Given the description of an element on the screen output the (x, y) to click on. 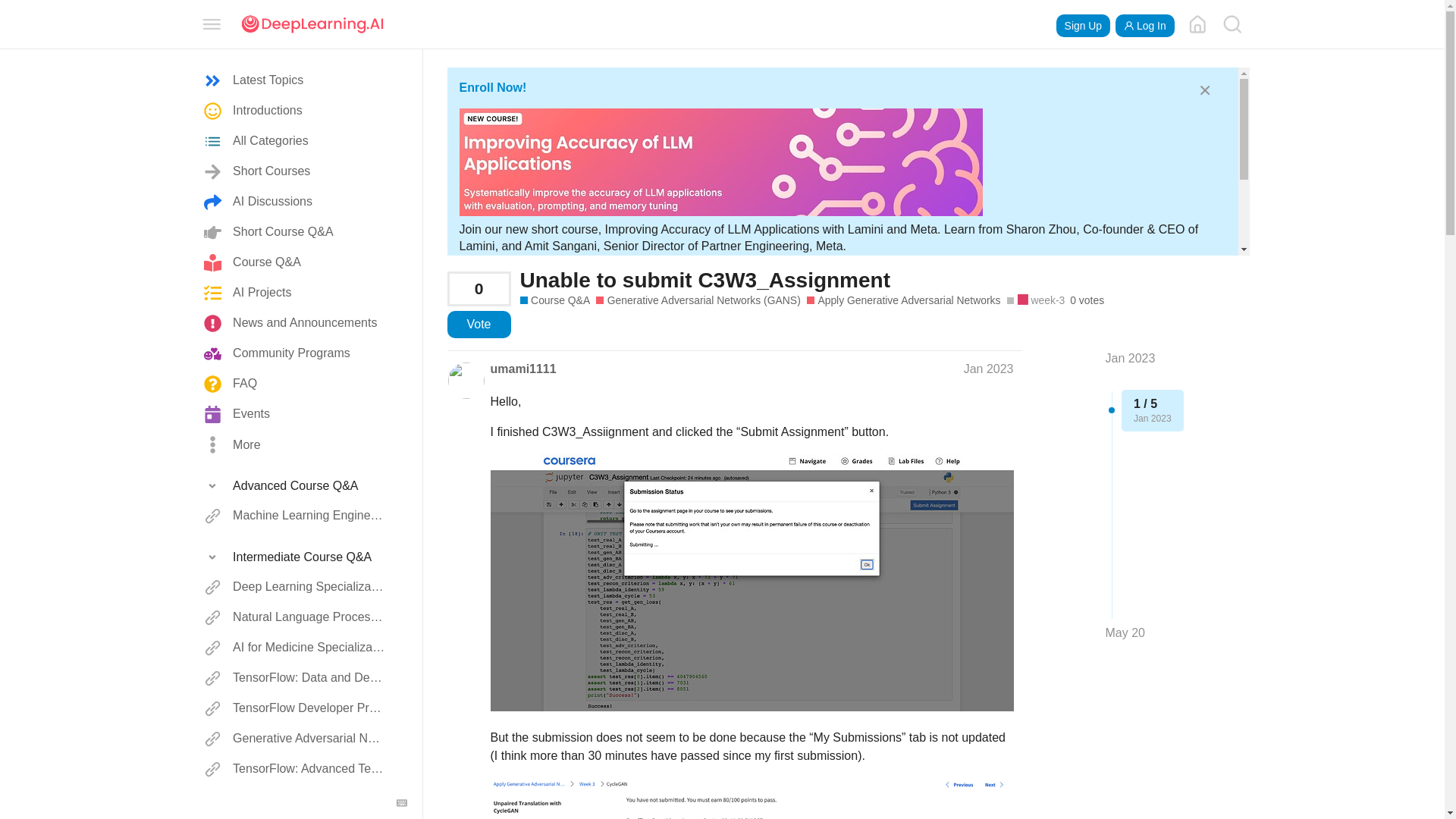
Deep Learning Forum home page (1197, 23)
AI for Medicine Specialization (296, 648)
TensorFlow: Advanced Techniques Specialization (296, 769)
All topics (296, 81)
Community Programs (296, 354)
Deep Learning Specialization (296, 587)
Dismiss this banner (1204, 89)
Keyboard Shortcuts (401, 802)
Generative AI with LLMs (296, 799)
Toggle section (296, 556)
